Given the description of an element on the screen output the (x, y) to click on. 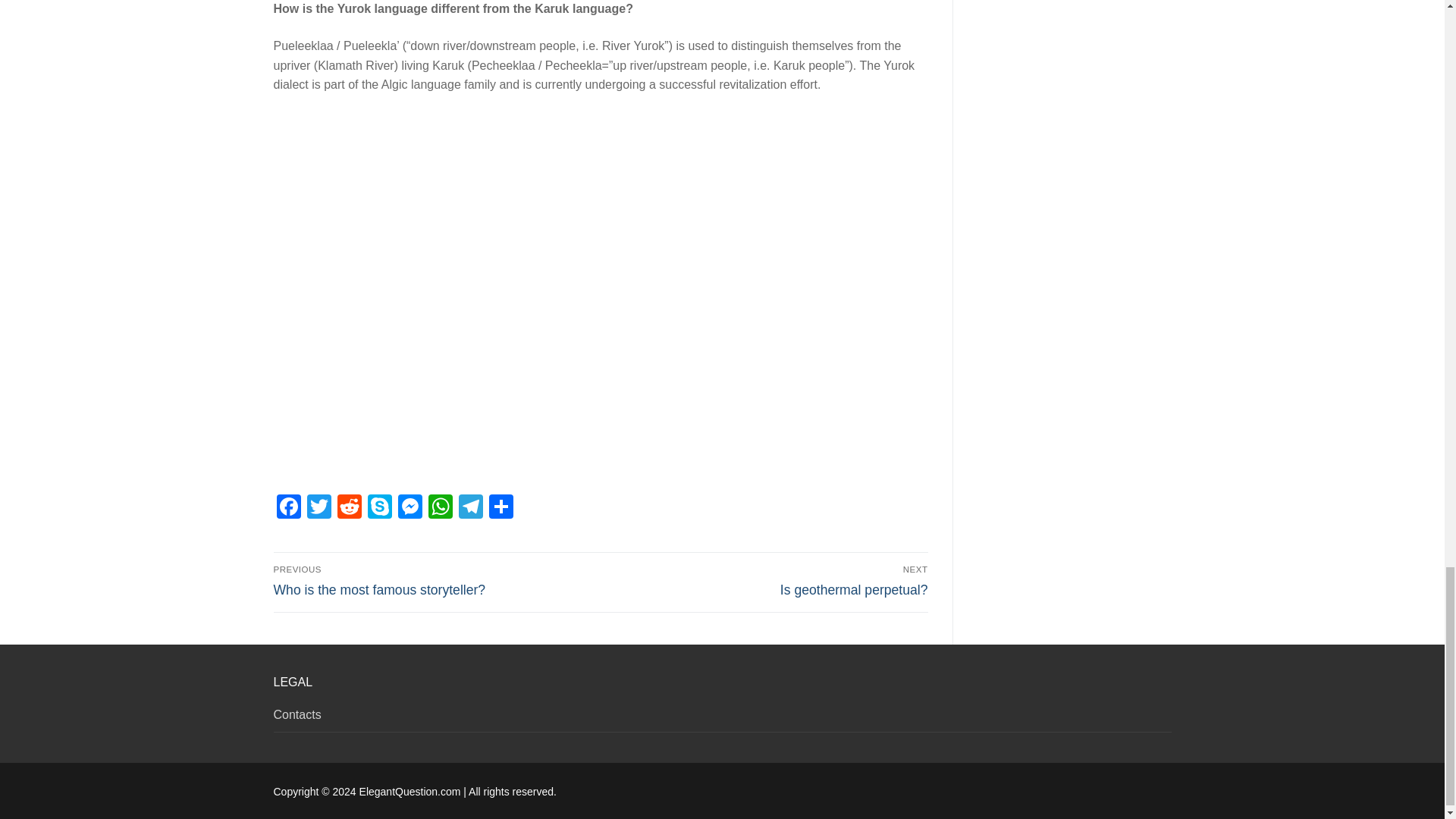
Twitter (317, 508)
Reddit (348, 508)
Skype (379, 508)
Facebook (287, 508)
